Given the description of an element on the screen output the (x, y) to click on. 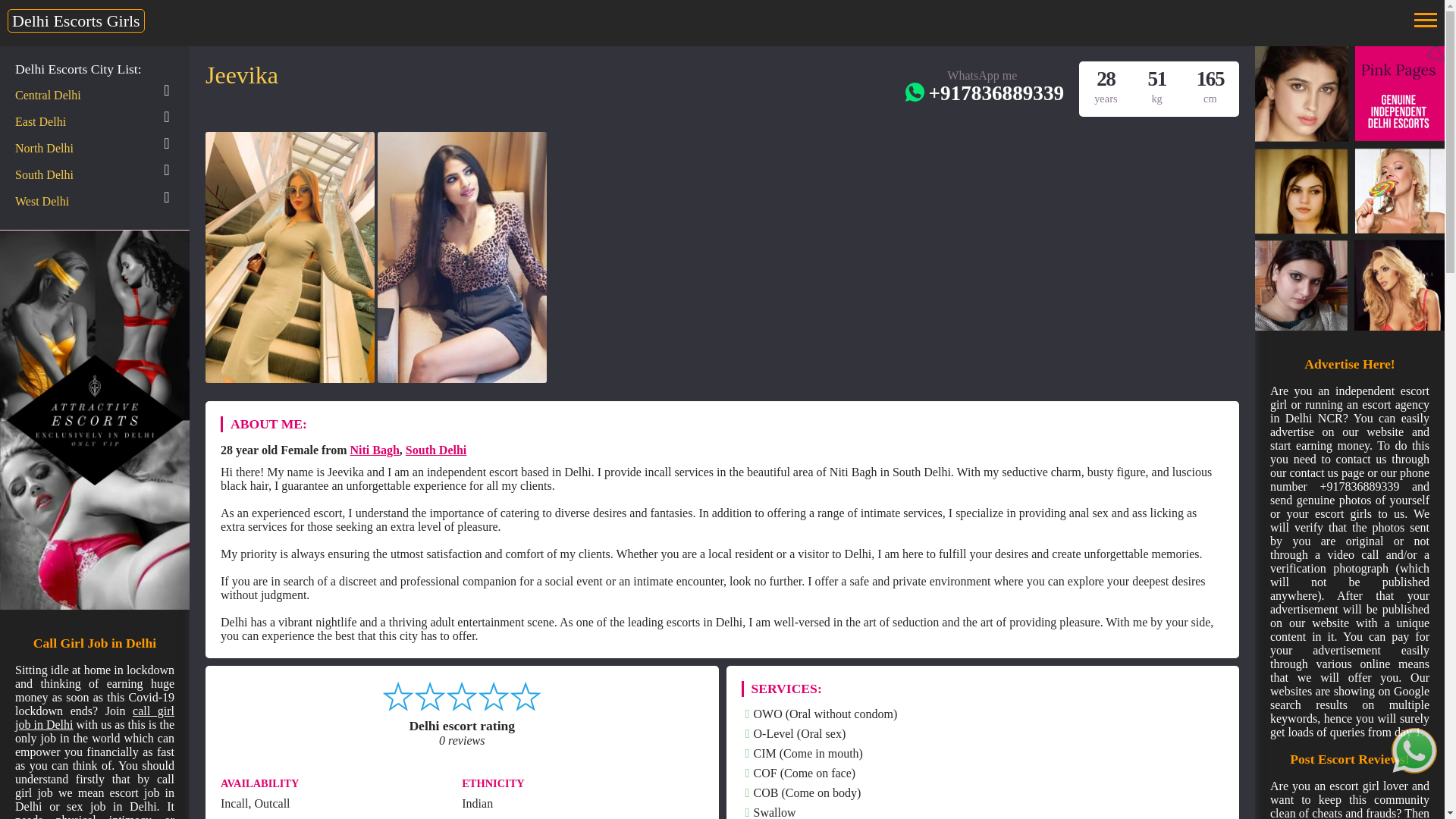
Delhi Escorts Girls (75, 20)
Niti Bagh (373, 449)
Niti Bagh (373, 449)
North Delhi (44, 148)
Central Delhi (47, 95)
Delhi Escorts Girls (75, 20)
East Delhi (39, 121)
Jeevika (241, 79)
South Delhi (435, 449)
Whatsapp to Delhi escorts girl (1414, 750)
